Given the description of an element on the screen output the (x, y) to click on. 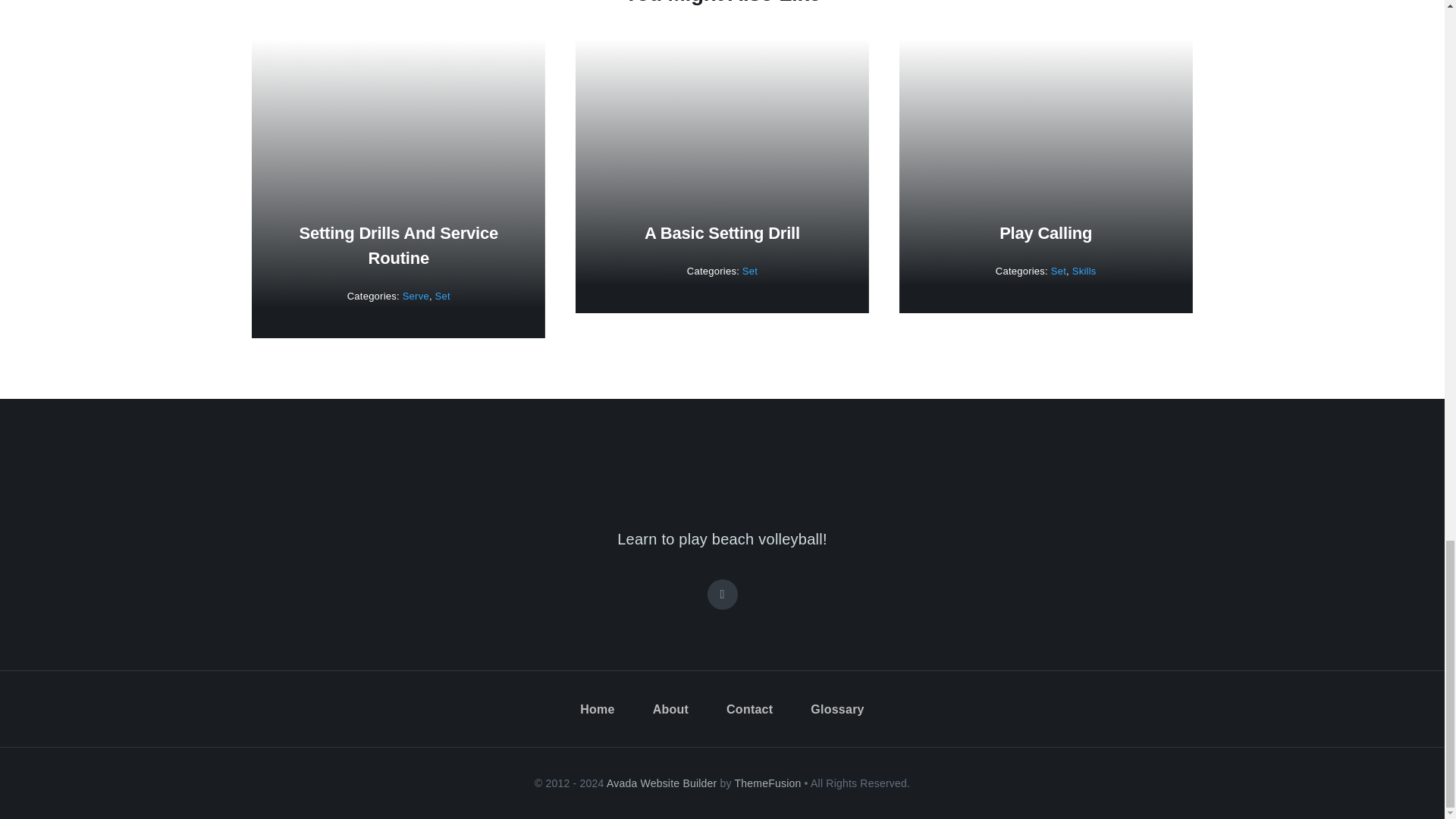
A Basic Setting Drill (722, 232)
Skills (1083, 270)
Set (1058, 270)
Setting Drills And Service Routine (398, 245)
Set (442, 296)
Play Calling (1045, 232)
Serve (416, 296)
Set (749, 270)
